Given the description of an element on the screen output the (x, y) to click on. 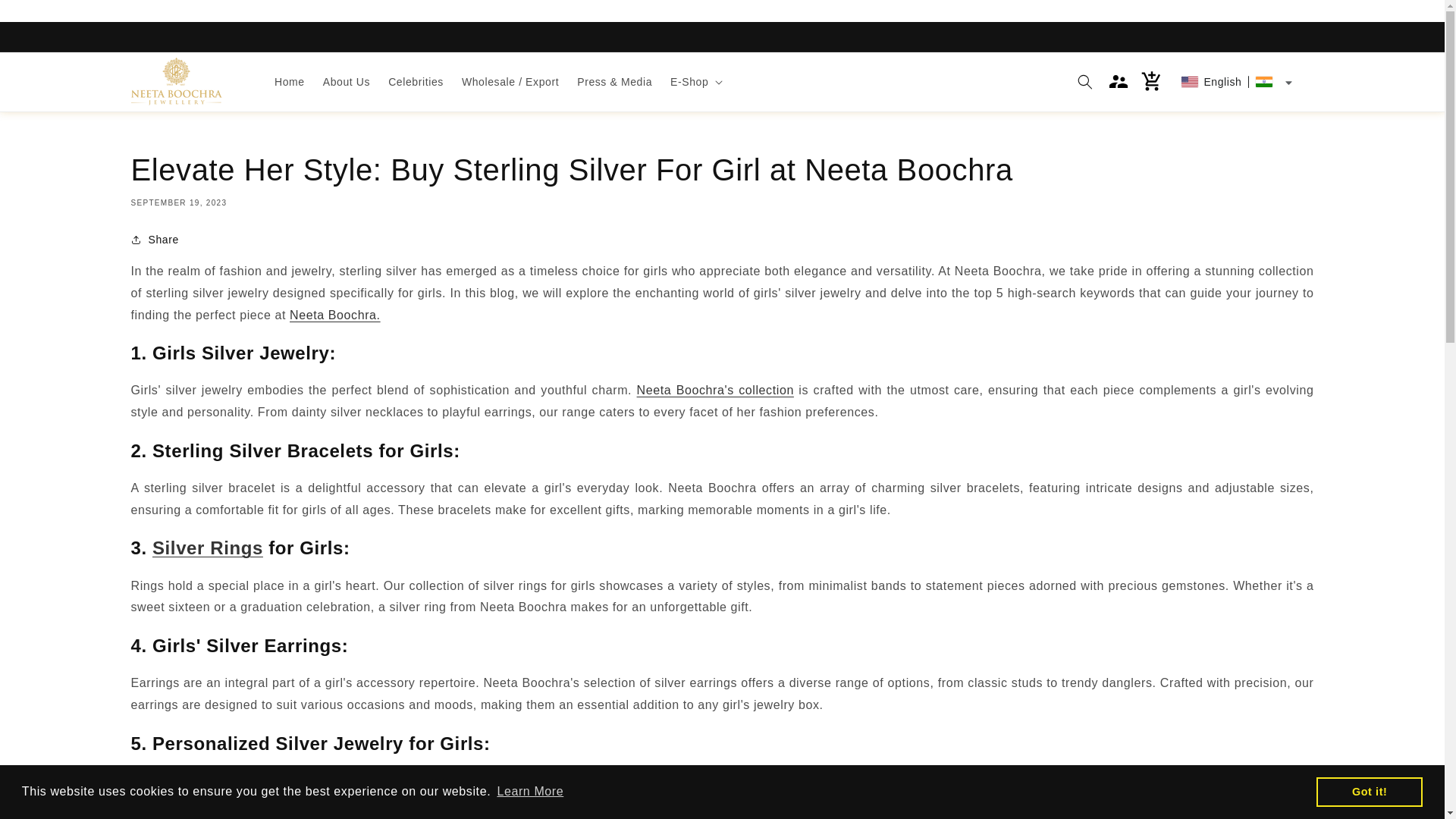
Celebrities (415, 81)
Home (289, 81)
Cart (1152, 81)
About Us (346, 81)
Got it! (1369, 791)
Skip to content (45, 17)
Learn More (530, 791)
Log in (1118, 81)
